Given the description of an element on the screen output the (x, y) to click on. 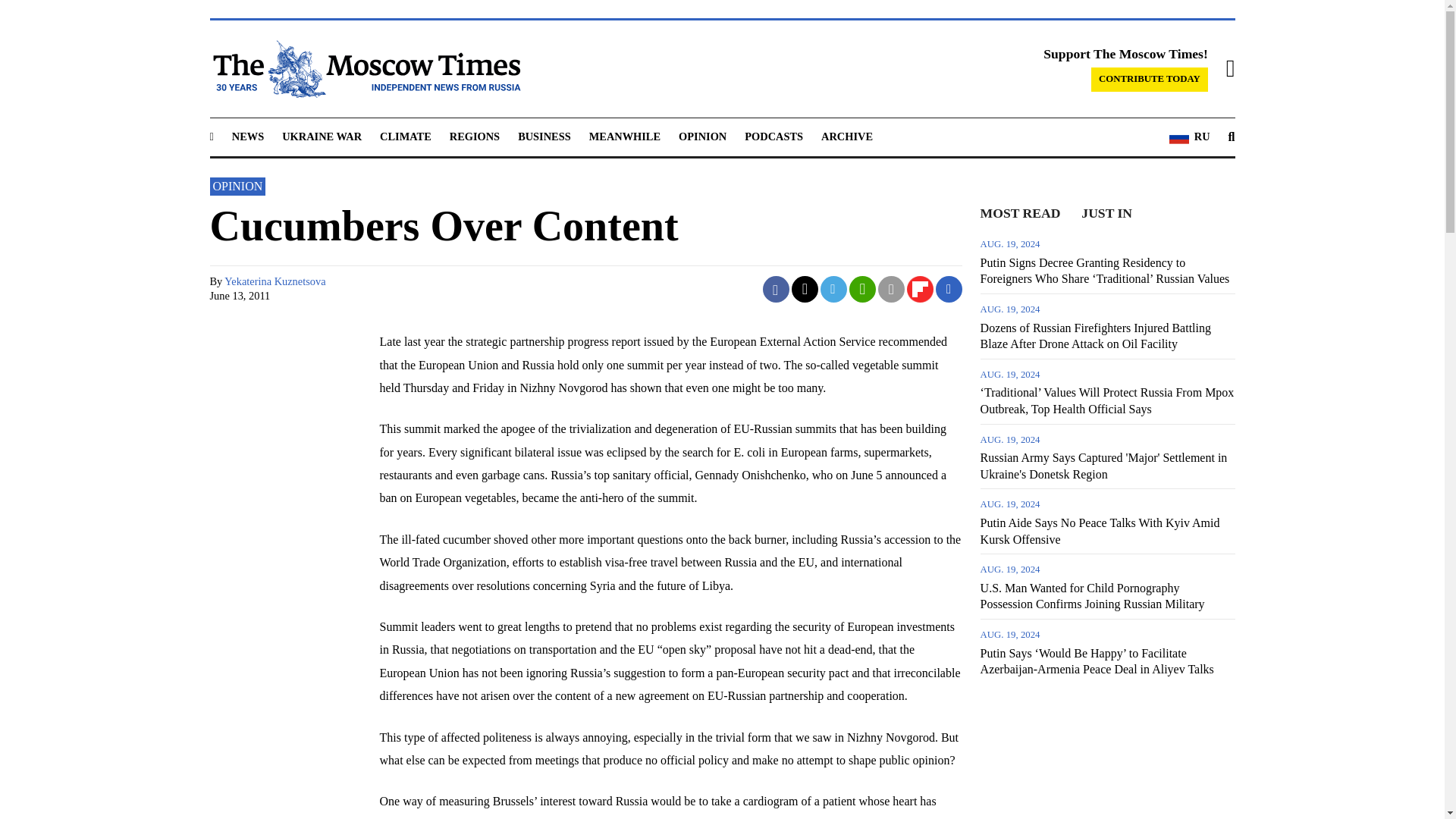
RU (1189, 137)
MEANWHILE (625, 136)
CONTRIBUTE TODAY (1149, 79)
Share on Twitter (805, 289)
REGIONS (474, 136)
CLIMATE (405, 136)
Share on Flipboard (920, 289)
Yekaterina Kuznetsova (274, 281)
Share on Telegram (834, 289)
PODCASTS (773, 136)
